Given the description of an element on the screen output the (x, y) to click on. 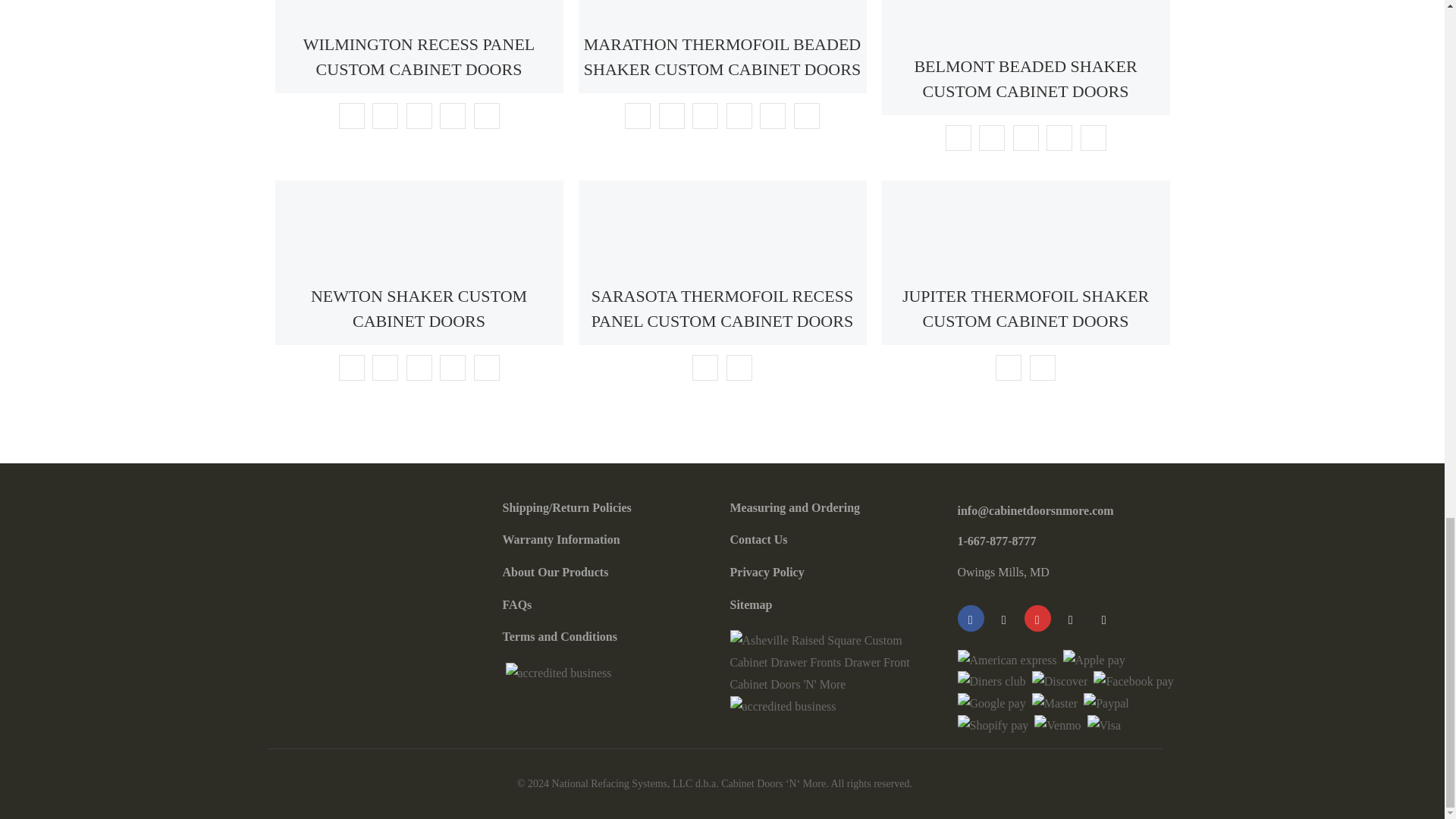
tel:1-667-877-8777 (995, 540)
Cabinet Doors 'N' More on Facebook (970, 618)
Cabinet Doors 'N' More on LinkedIn (1070, 618)
Cabinet Doors 'N' More on Pinterest (1036, 618)
Cabinet Doors 'N' More on YouTube (1003, 618)
Email Cabinet Doors 'N' More (1103, 618)
